Given the description of an element on the screen output the (x, y) to click on. 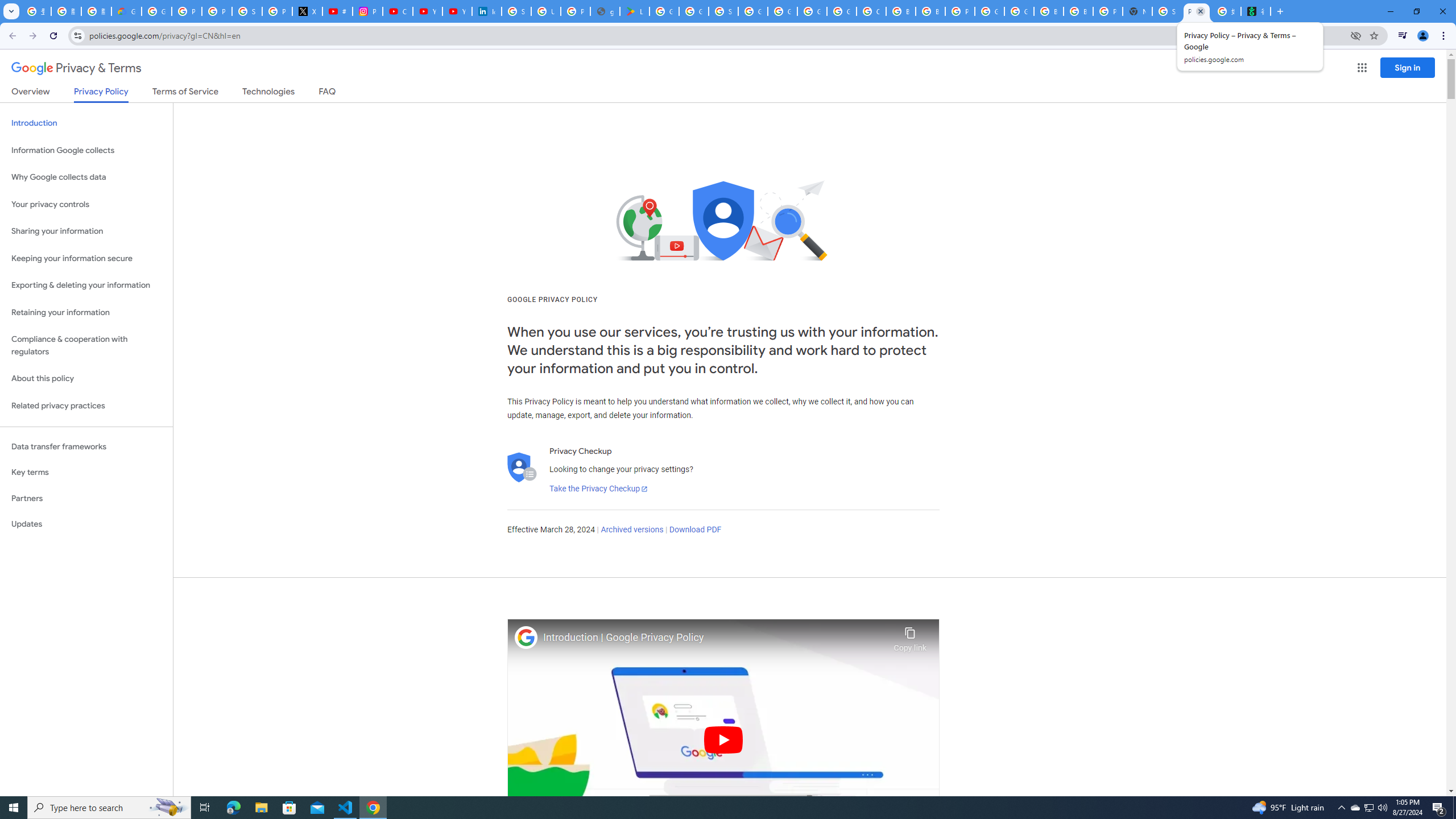
Photo image of Google (526, 636)
Sign in - Google Accounts (1166, 11)
Google Cloud Platform (811, 11)
Play (723, 739)
